Given the description of an element on the screen output the (x, y) to click on. 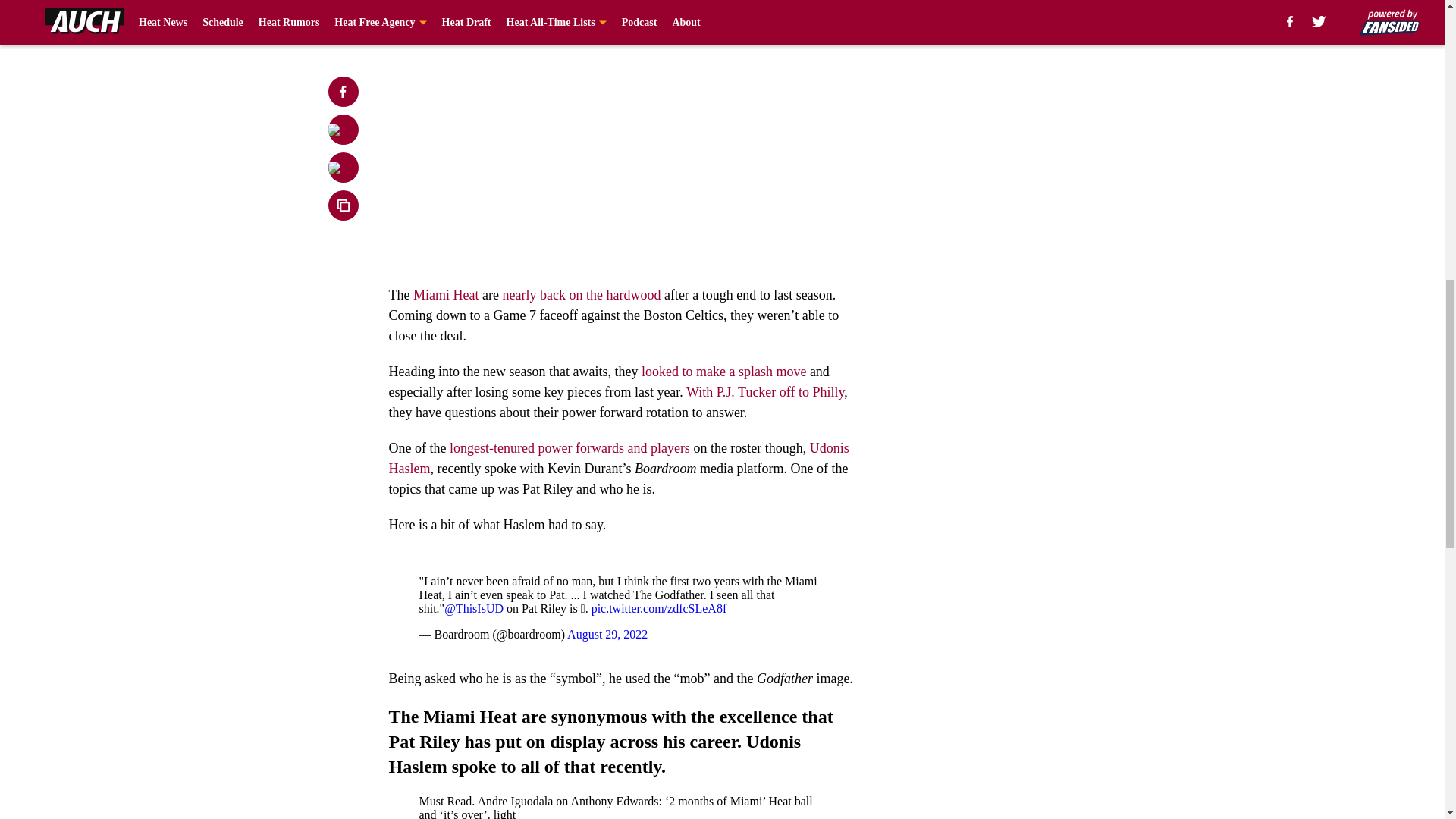
longest-tenured power forwards and players (569, 447)
Udonis Haslem (618, 457)
looked to make a splash move (724, 371)
nearly back on the hardwood (580, 294)
With P.J. Tucker off to Philly (763, 391)
Miami Heat (446, 294)
August 29, 2022 (607, 634)
